Given the description of an element on the screen output the (x, y) to click on. 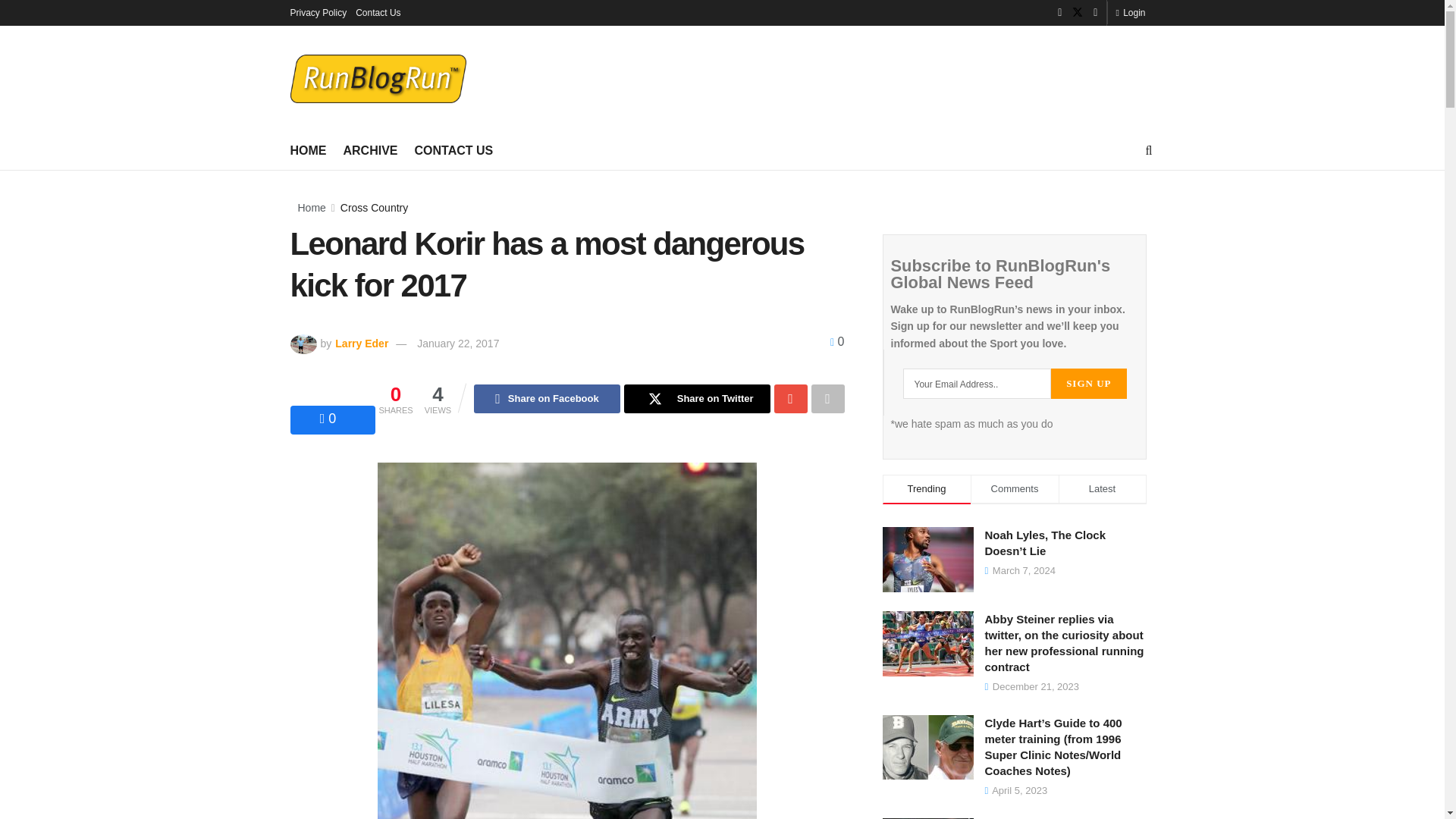
Privacy Policy (317, 12)
Share on Facebook (547, 398)
HOME (307, 150)
SIGN UP (1088, 383)
Login (1129, 12)
0 (328, 418)
ARCHIVE (369, 150)
0 (836, 341)
Cross Country (373, 207)
Larry Eder (359, 343)
January 22, 2017 (457, 343)
CONTACT US (453, 150)
Contact Us (377, 12)
Home (310, 207)
Share on Twitter (697, 398)
